Given the description of an element on the screen output the (x, y) to click on. 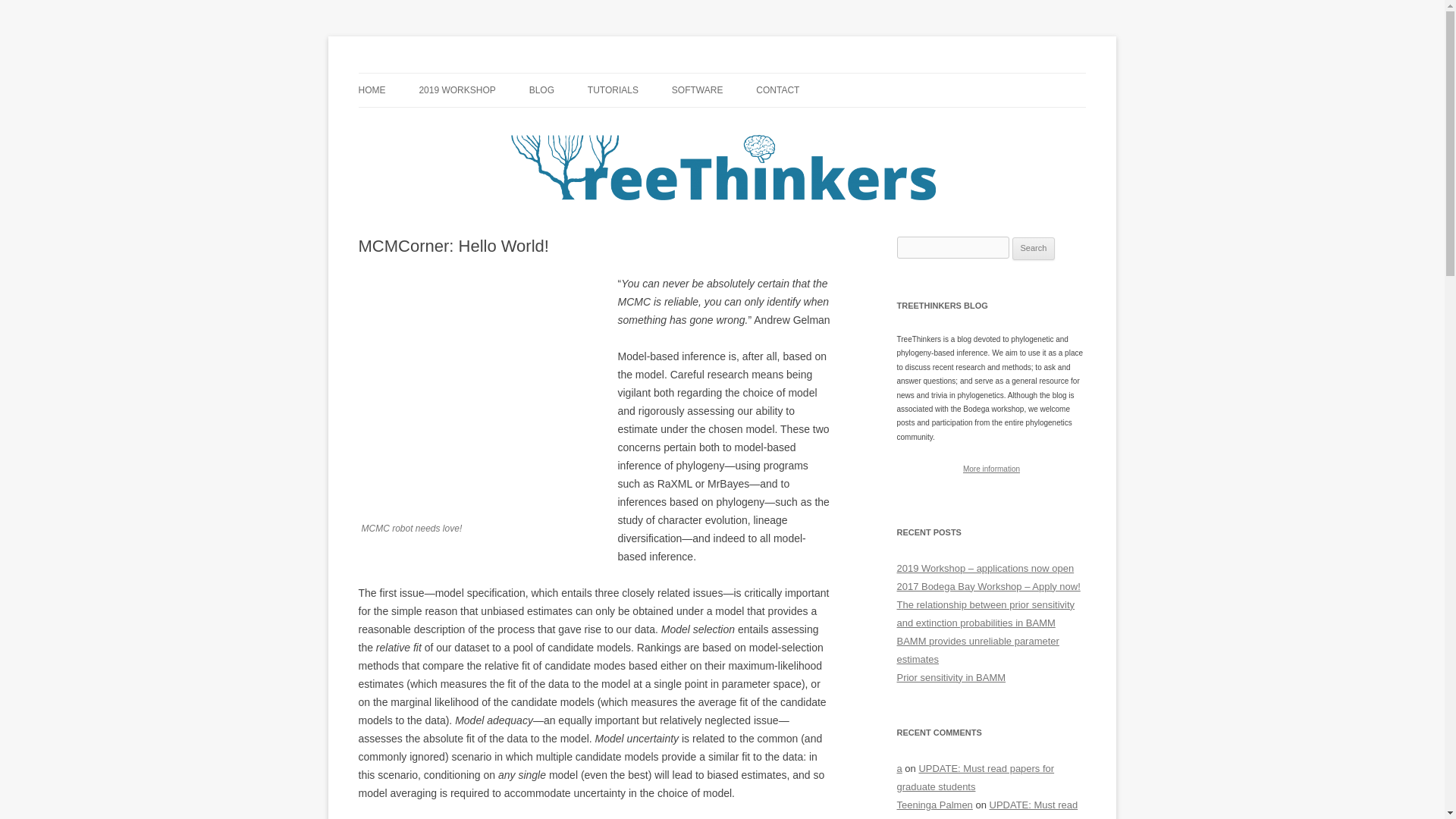
TUTORIALS (613, 90)
UPDATE: Must read papers for graduate students (975, 777)
BLOG (541, 90)
HOME (371, 90)
SOFTWARE (697, 90)
Teeninga Palmen (934, 804)
Search (1033, 248)
More information (991, 469)
a (898, 767)
UPDATE: Must read papers for graduate students (986, 809)
CONTACT (777, 90)
Prior sensitivity in BAMM (951, 677)
Skip to content (757, 77)
Skip to content (757, 77)
